Given the description of an element on the screen output the (x, y) to click on. 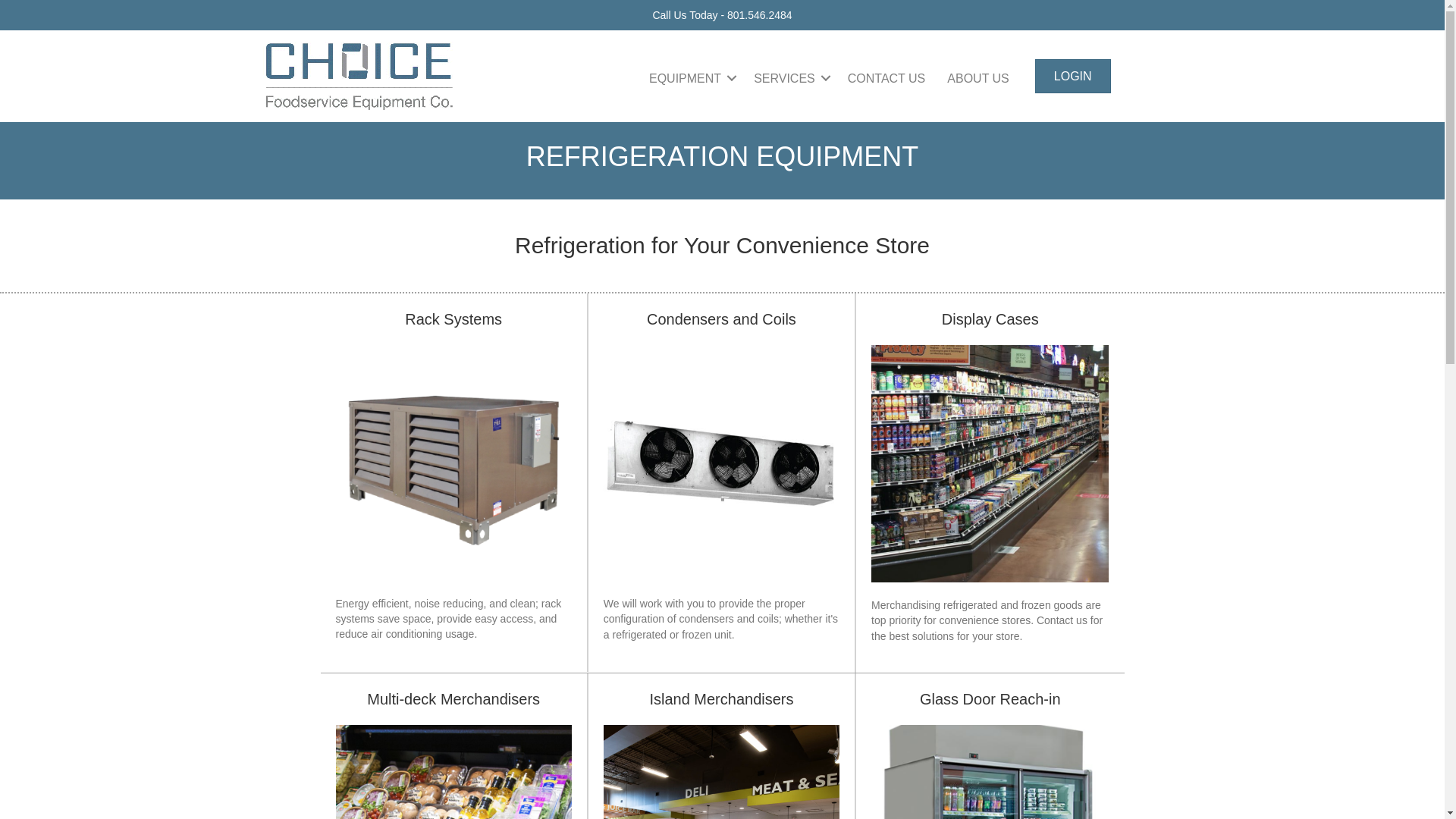
Convenience Store Display Case (989, 463)
LOGIN (1072, 75)
Convenience Store Remodel (722, 771)
Reach-in merchandiser for c-stores (989, 771)
SERVICES (788, 77)
multi-deck merchandiser for convenience stores (452, 771)
Coils-and-Condersers-for-Convenience-Stores (722, 462)
Refrigeration Rack System (452, 462)
Logo2017sm (357, 75)
CONTACT US (886, 77)
ABOUT US (978, 77)
EQUIPMENT (690, 77)
